Given the description of an element on the screen output the (x, y) to click on. 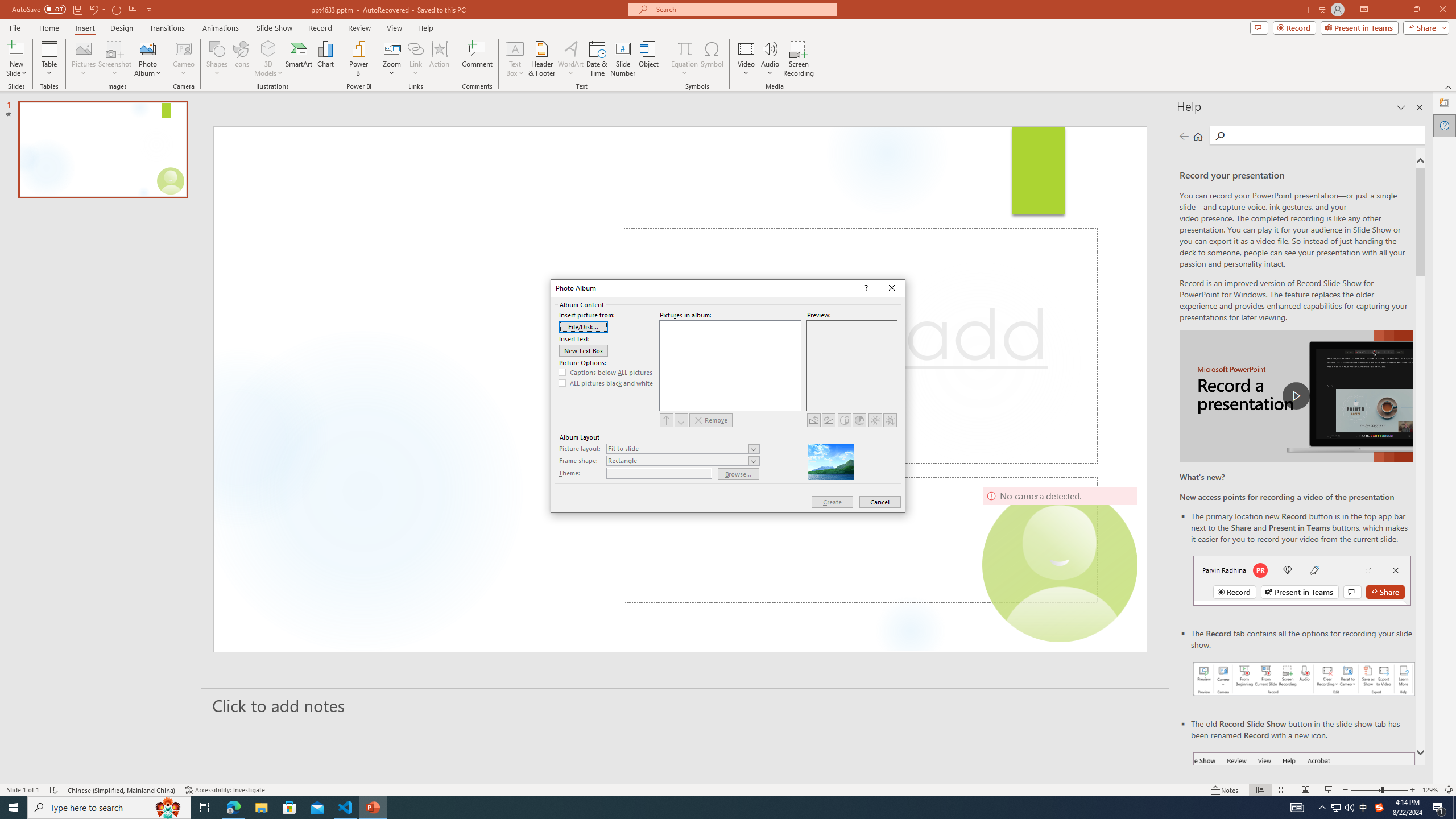
File Explorer (261, 807)
Pictures (83, 58)
Photo Album... (147, 58)
Slide Number (622, 58)
Visual Studio Code - 1 running window (345, 807)
More Contrast (844, 419)
Symbol... (711, 58)
Remove (710, 419)
Theme (658, 473)
